Given the description of an element on the screen output the (x, y) to click on. 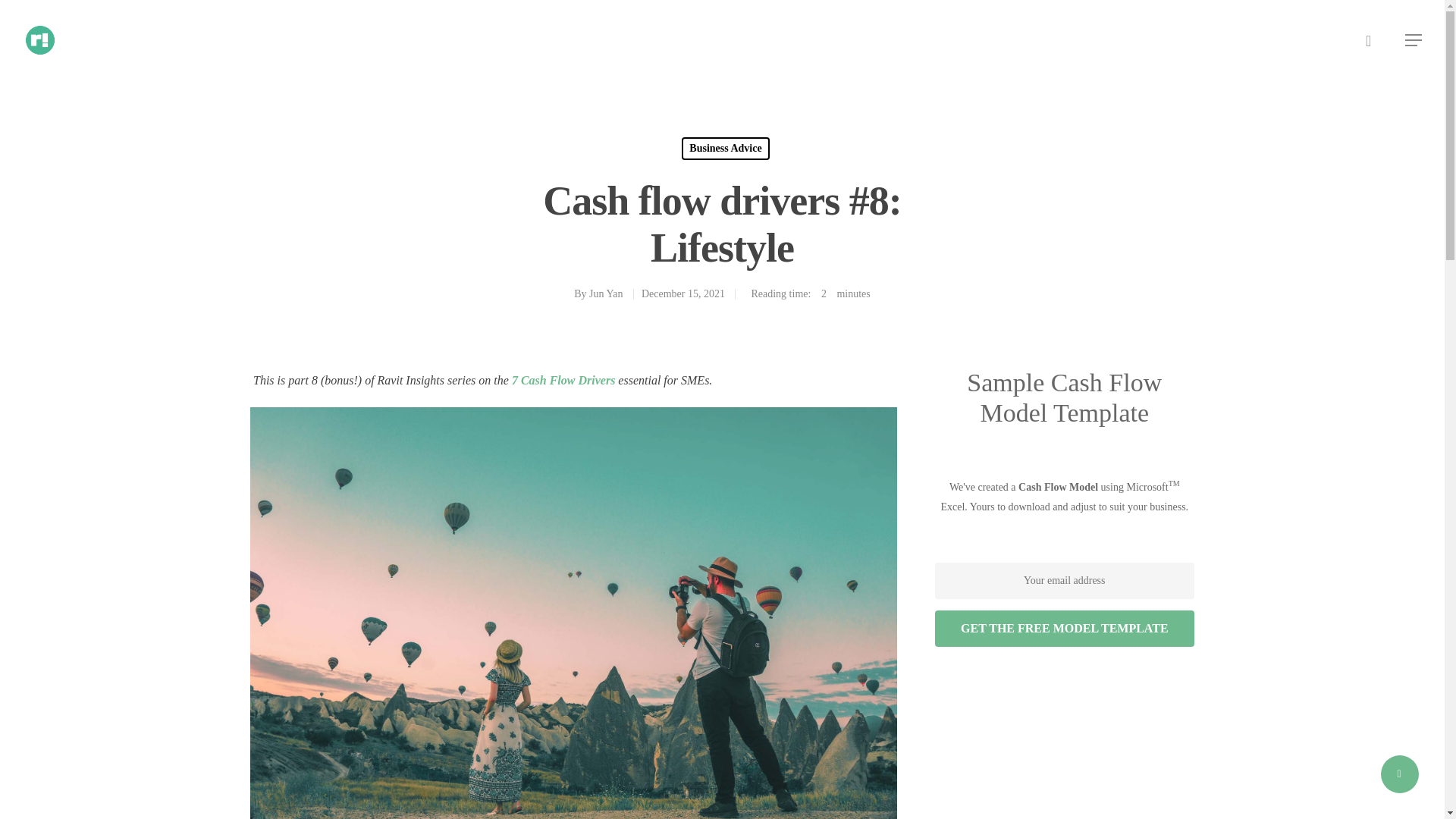
7 Cash Flow Drivers (563, 379)
Posts by Jun Yan (606, 293)
Get the Free Model Template (1063, 628)
Jun Yan (606, 293)
Get the Free Model Template (1063, 628)
Business Advice (724, 148)
